Given the description of an element on the screen output the (x, y) to click on. 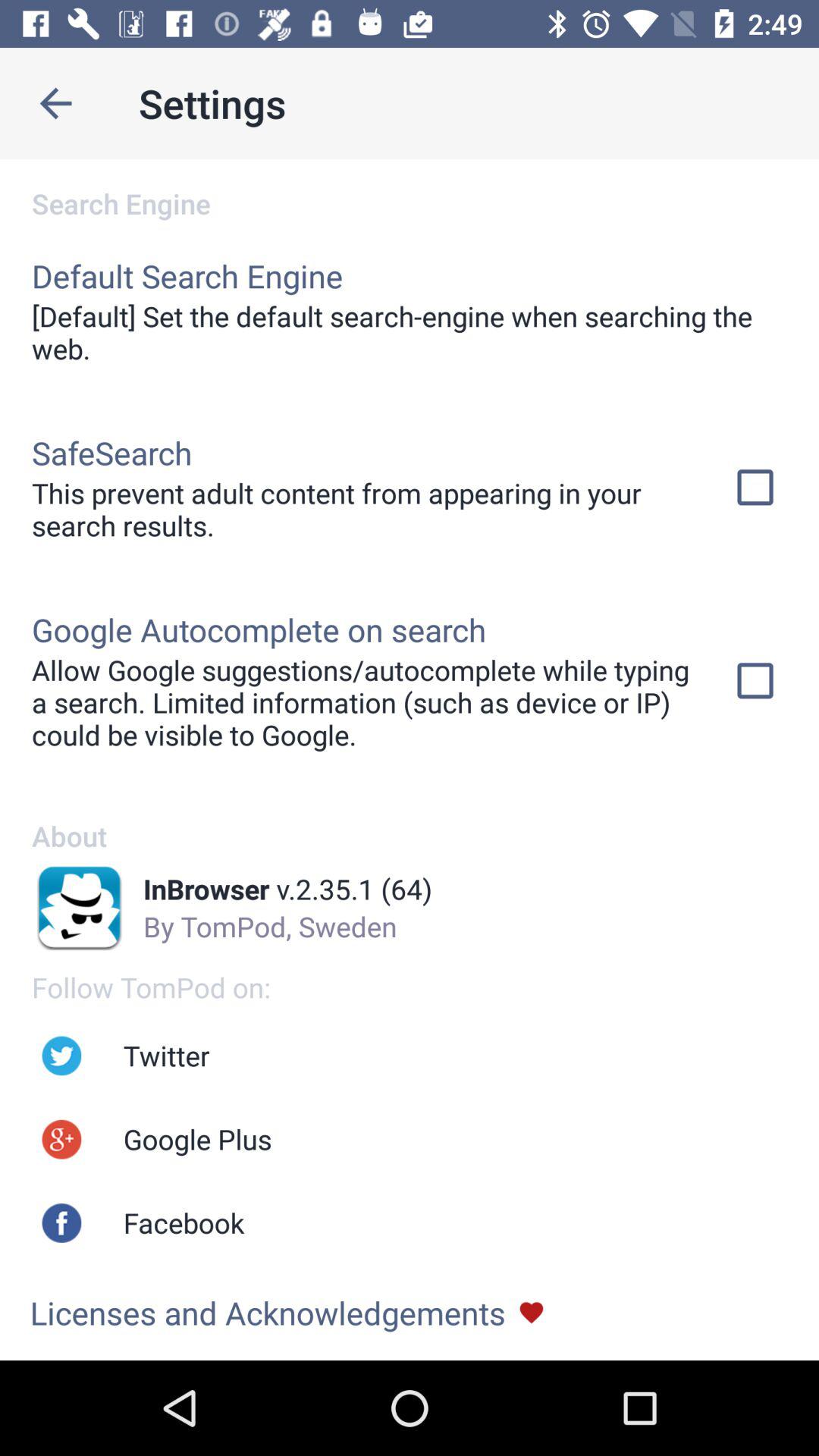
press the icon below the google plus icon (183, 1222)
